Given the description of an element on the screen output the (x, y) to click on. 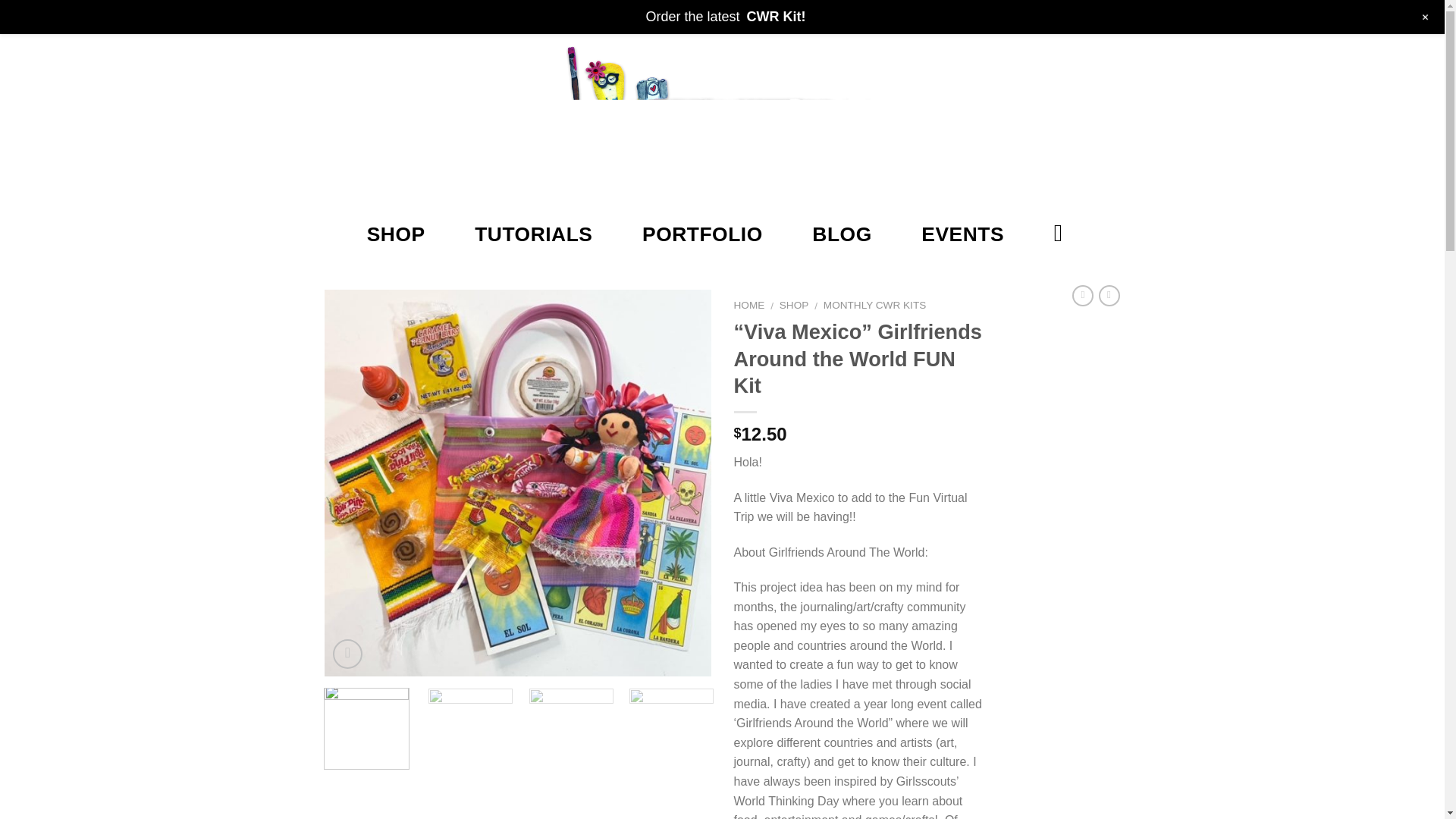
HOME (749, 305)
MONTHLY CWR KITS (875, 305)
TUTORIALS (533, 234)
SHOP (793, 305)
Follow on YouTube (400, 14)
Follow on Facebook (335, 14)
Connect (1049, 15)
PORTFOLIO (702, 234)
EVENTS (963, 234)
Zoom (347, 654)
